Given the description of an element on the screen output the (x, y) to click on. 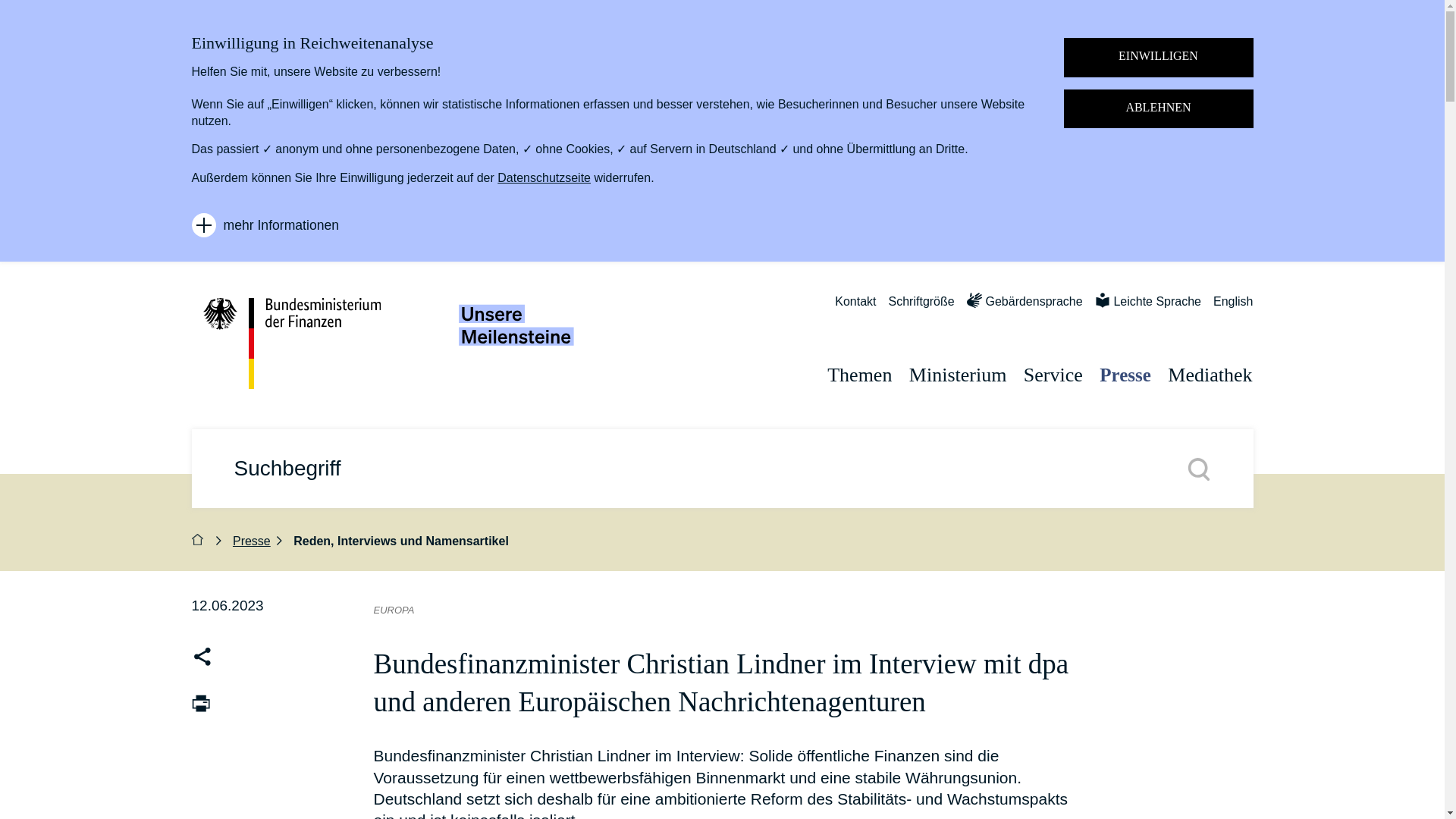
Zur Startseite (298, 343)
Datenschutzseite (544, 177)
Suche (1198, 468)
Switch to english website (1232, 307)
Themen (853, 363)
Kontakt (855, 307)
EINWILLIGEN (1157, 56)
ABLEHNEN (1157, 108)
Leichte Sprache (1147, 307)
Kontakt (855, 307)
